Given the description of an element on the screen output the (x, y) to click on. 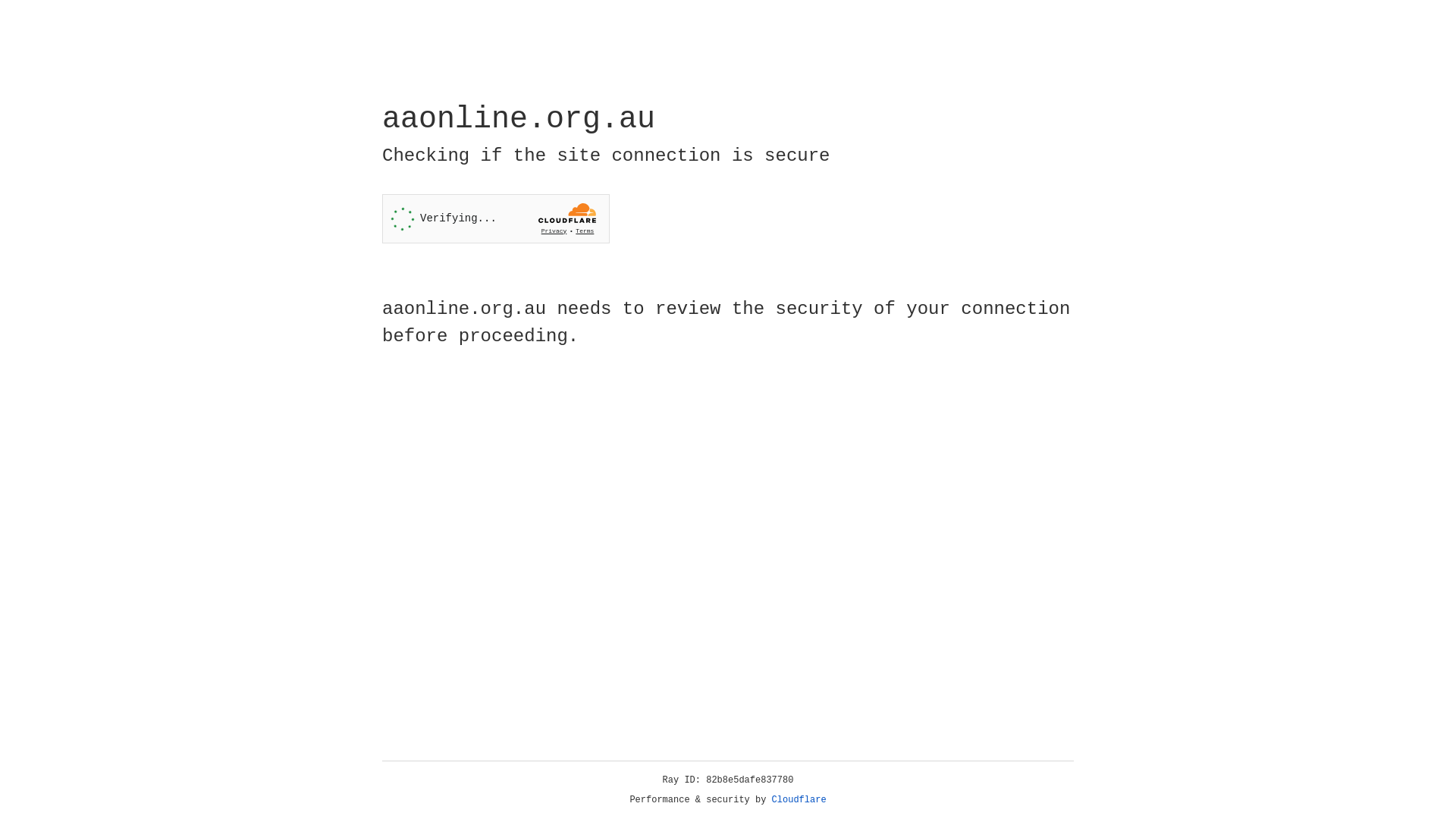
Cloudflare Element type: text (798, 799)
Widget containing a Cloudflare security challenge Element type: hover (495, 218)
